Given the description of an element on the screen output the (x, y) to click on. 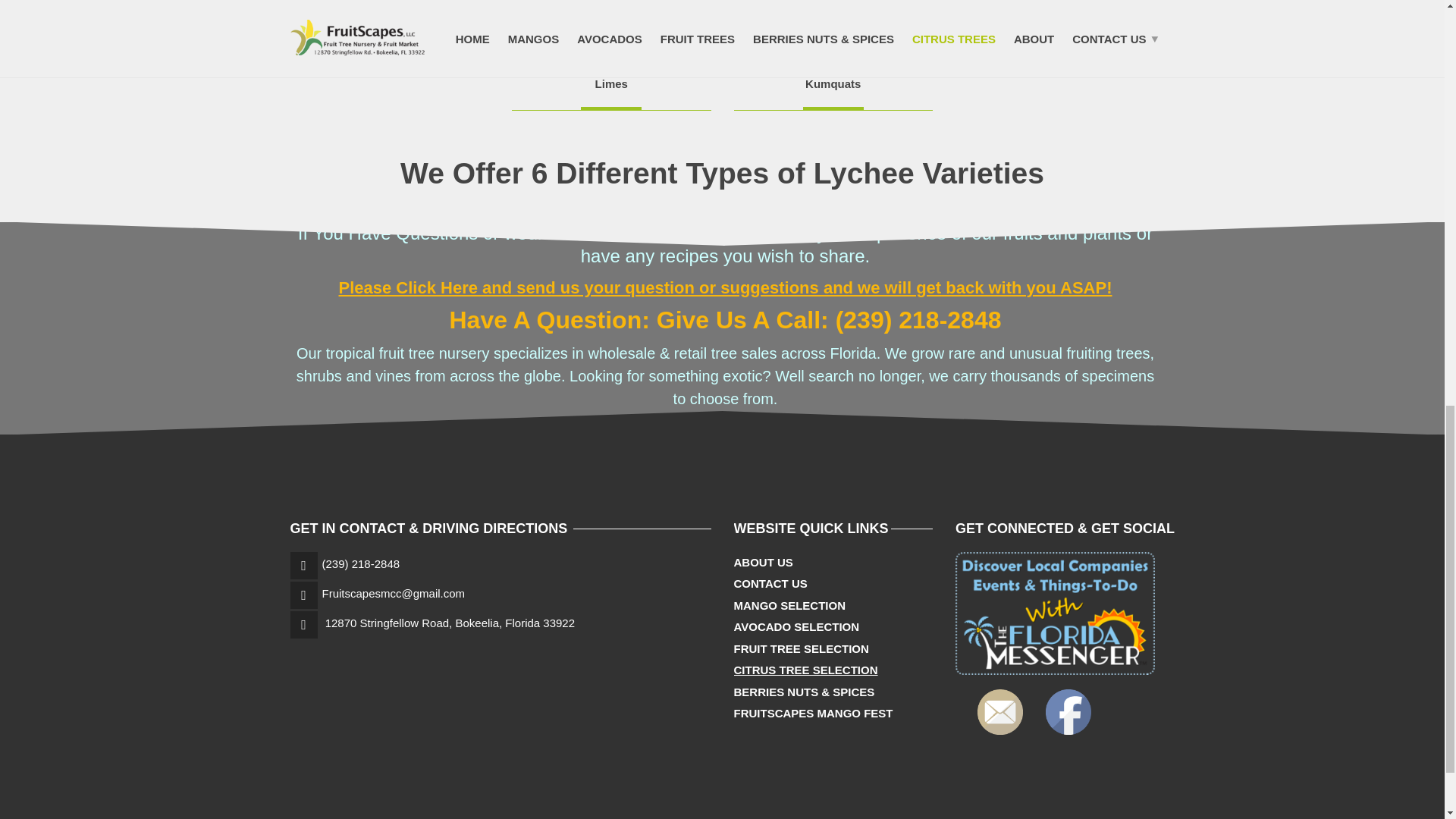
CONTACT US (770, 584)
Limes (611, 83)
MANGO SELECTION (789, 606)
Kumquats (832, 83)
ABOUT US (763, 563)
12870 Stringfellow Road, Bokeelia, Florida 33922 (449, 622)
AVOCADO SELECTION (796, 627)
